Given the description of an element on the screen output the (x, y) to click on. 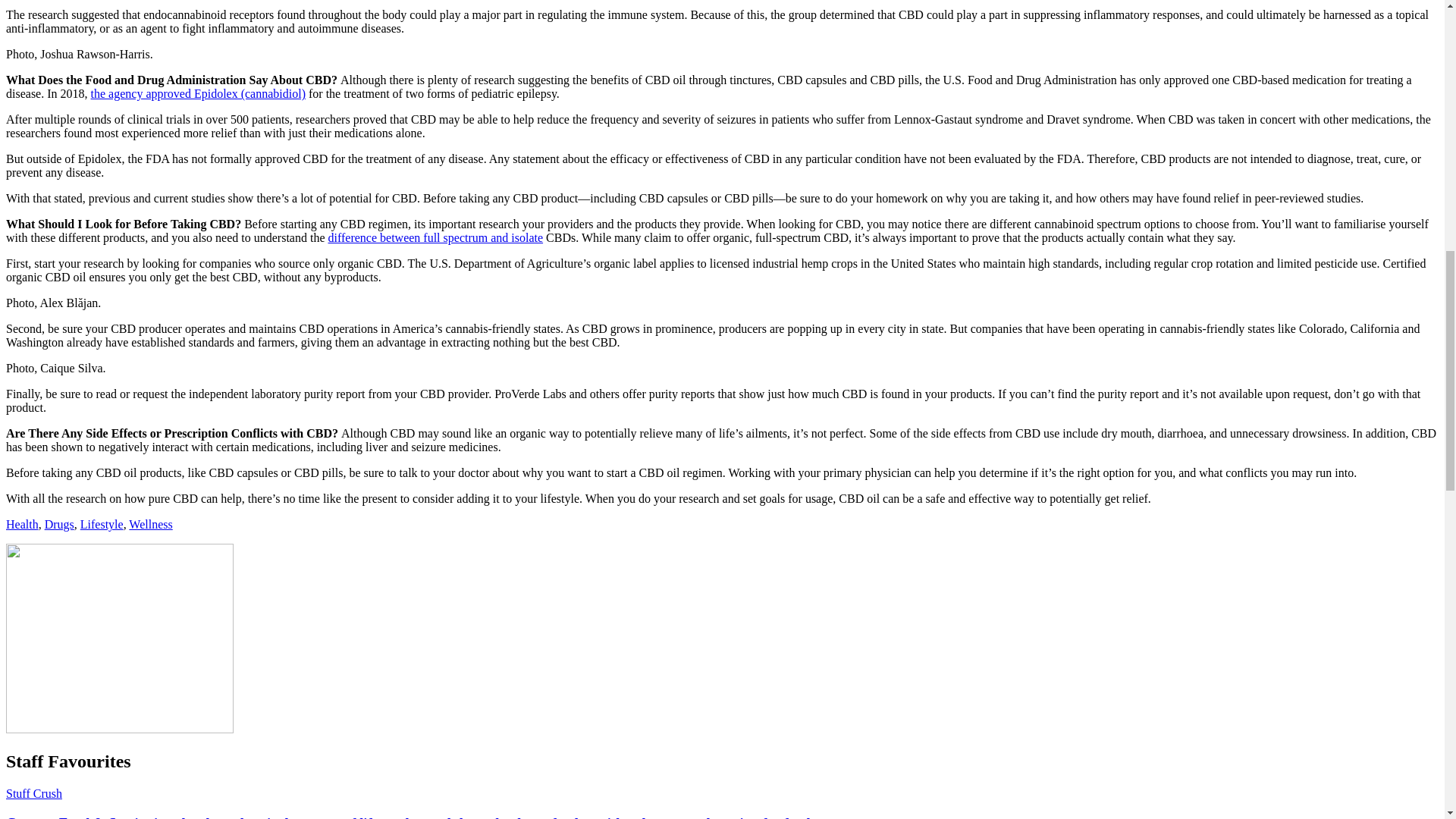
Drugs (59, 523)
Wellness (150, 523)
difference between full spectrum and isolate (435, 237)
Lifestyle (101, 523)
Health (22, 523)
